Given the description of an element on the screen output the (x, y) to click on. 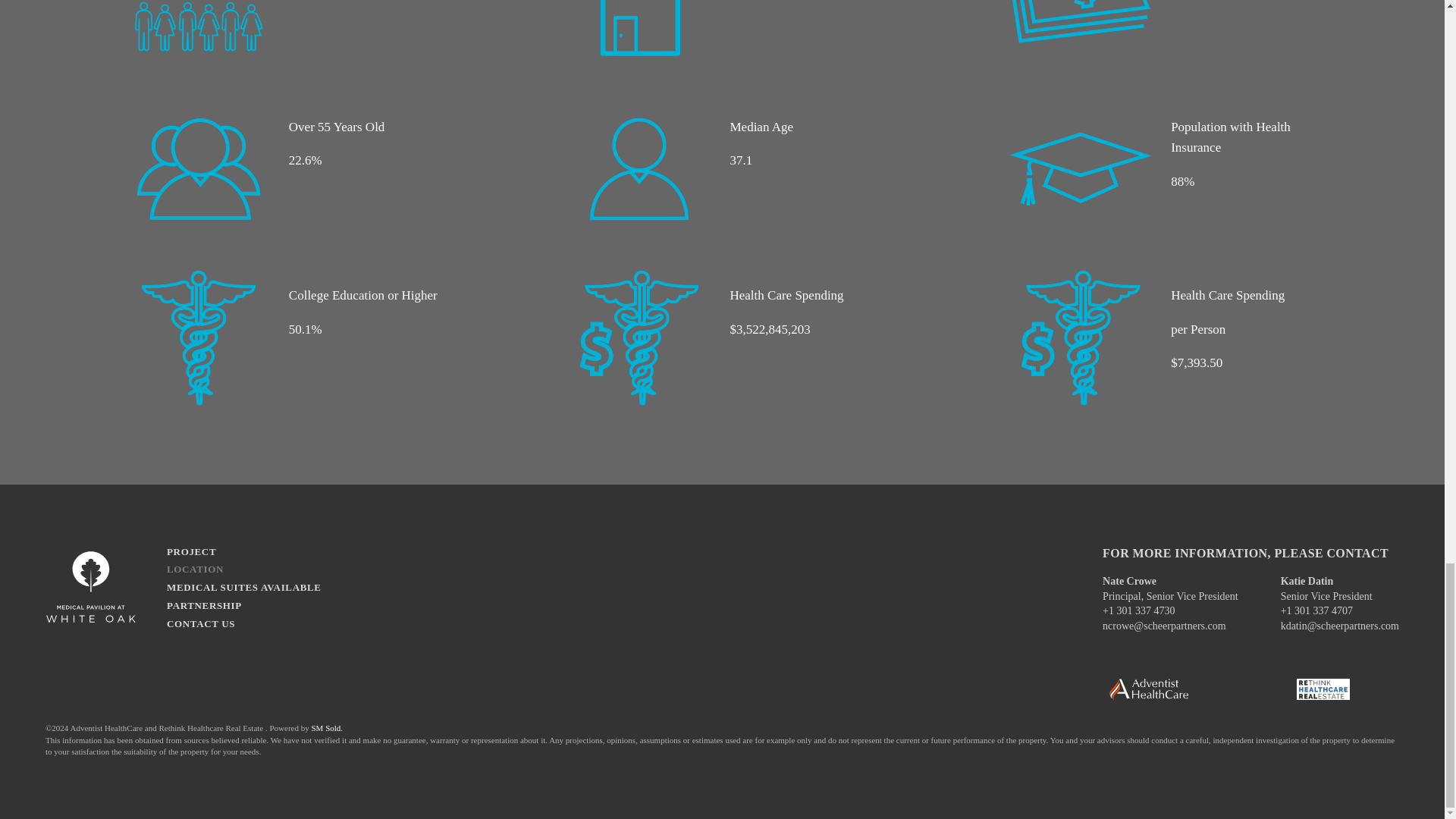
CONTACT US (244, 624)
LOCATION (244, 569)
MEDICAL SUITES AVAILABLE (244, 587)
PARTNERSHIP (244, 606)
PROJECT (244, 551)
SM Sold. (326, 727)
